Given the description of an element on the screen output the (x, y) to click on. 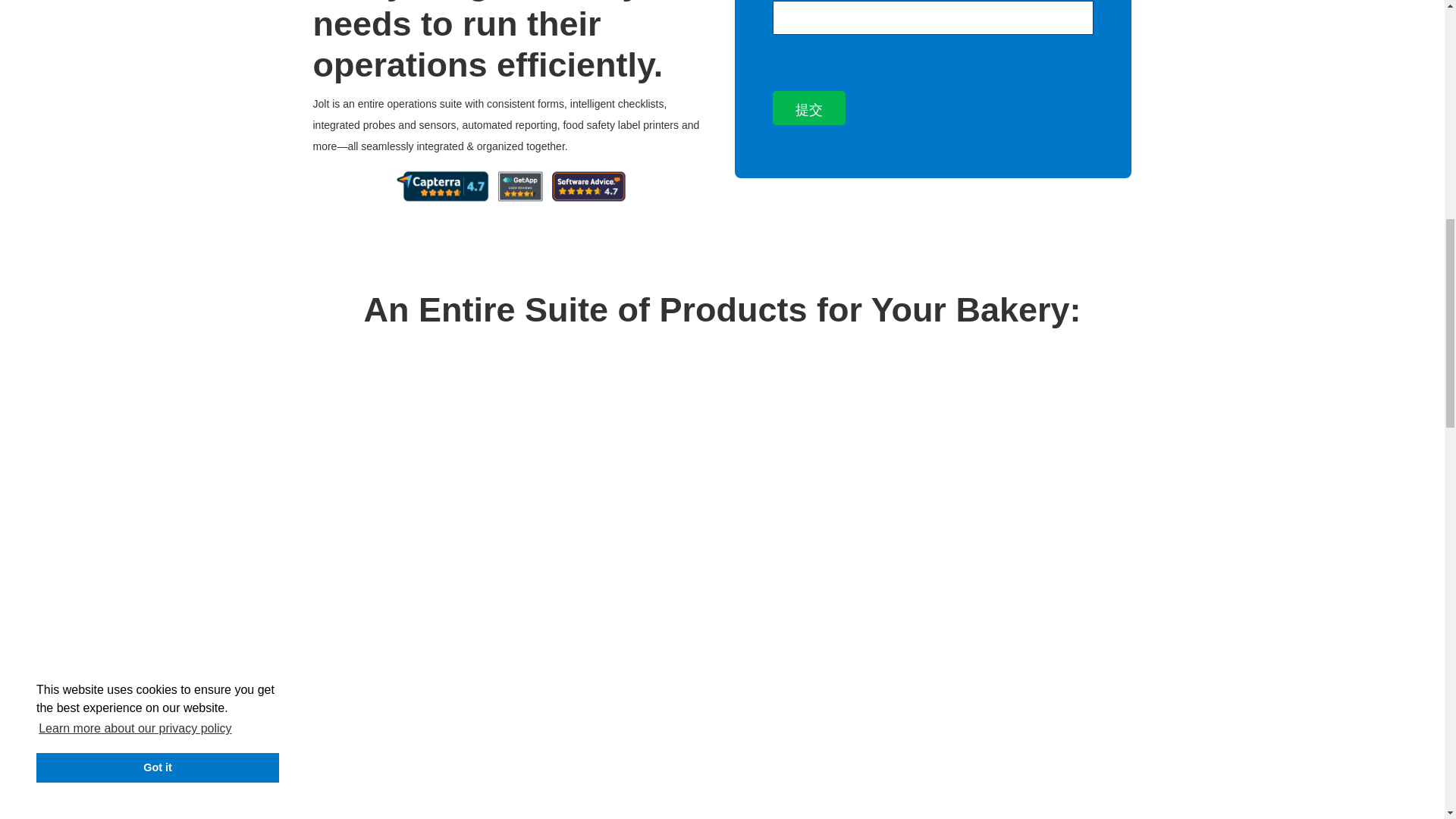
badges (511, 185)
